Given the description of an element on the screen output the (x, y) to click on. 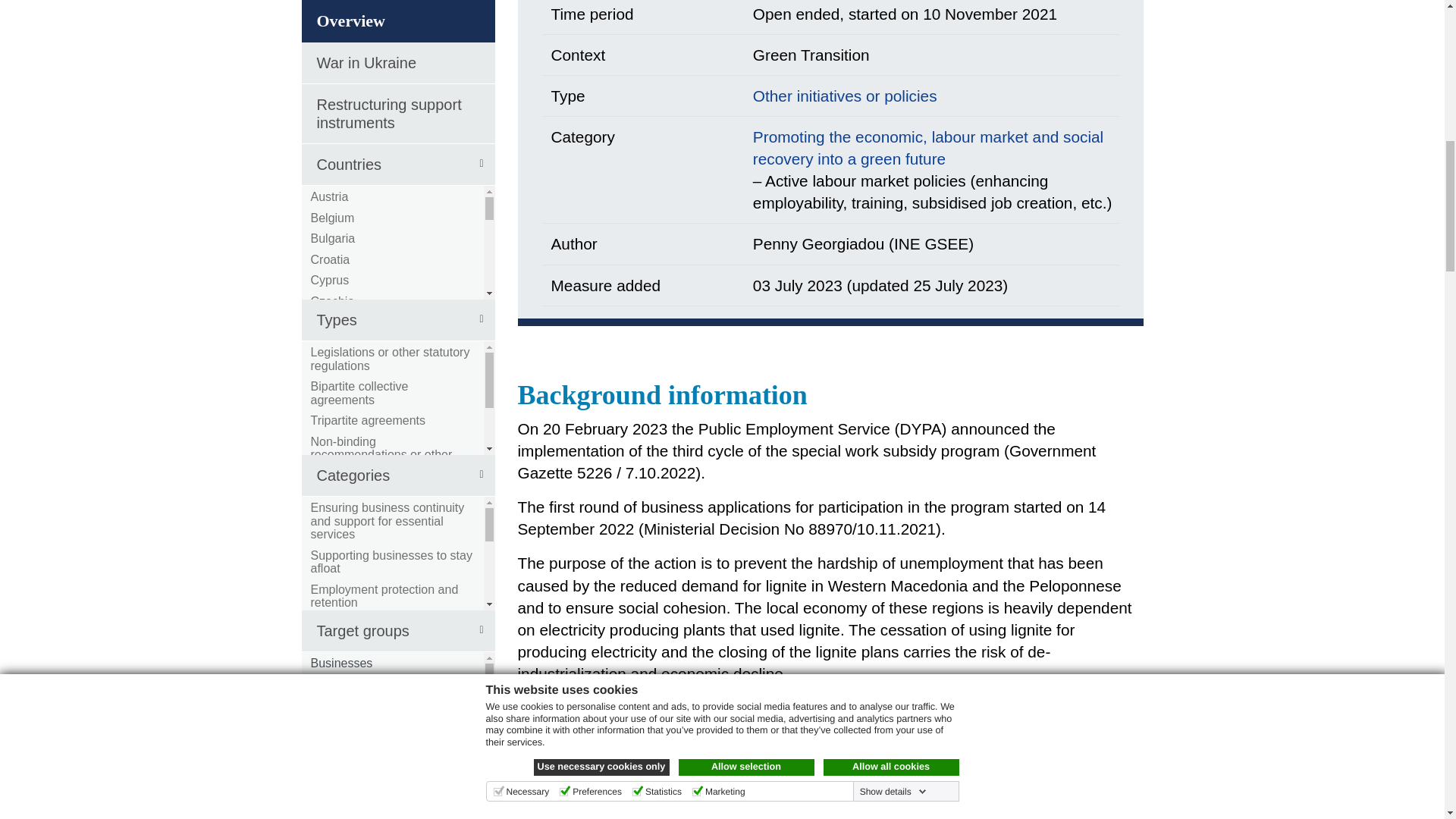
Target groups (398, 122)
